Given the description of an element on the screen output the (x, y) to click on. 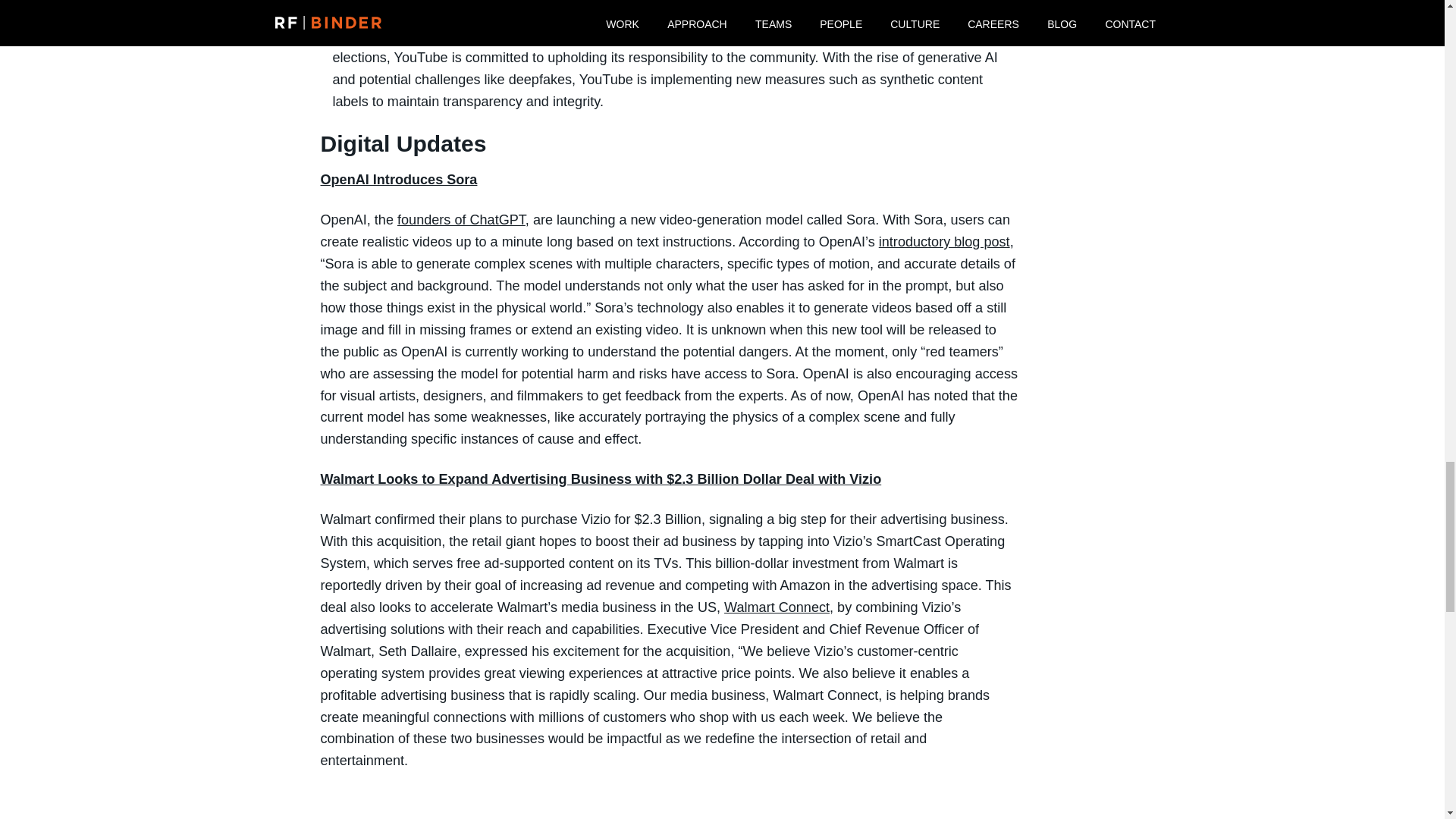
introductory blog post (944, 241)
founders of ChatGPT (461, 219)
Walmart Connect (776, 607)
OpenAI Introduces Sora (398, 179)
